Given the description of an element on the screen output the (x, y) to click on. 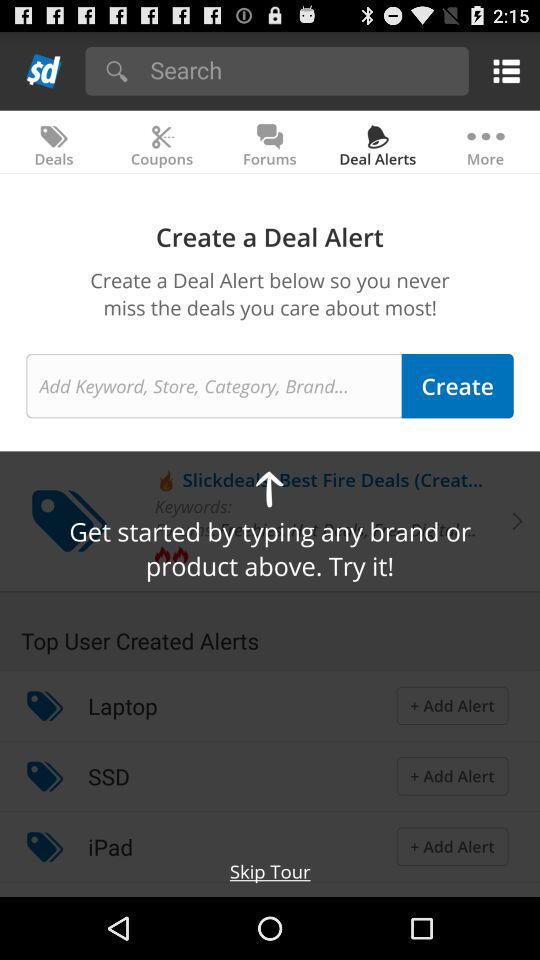
select the skip tour at the bottom (269, 871)
